Given the description of an element on the screen output the (x, y) to click on. 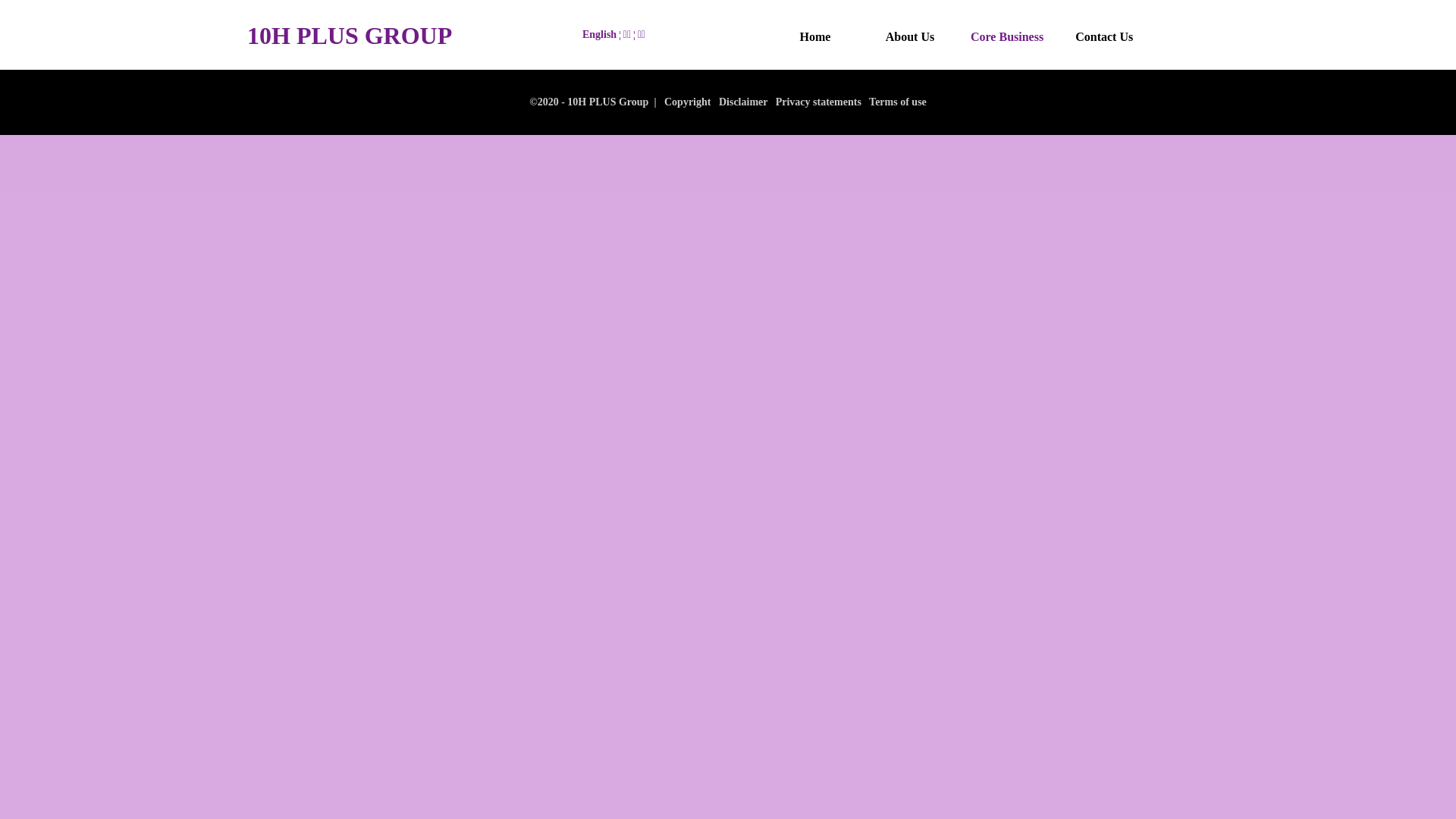
Contact Us Element type: text (1104, 36)
Home Element type: text (814, 36)
English Element type: text (599, 34)
Core Business Element type: text (1006, 36)
Home Element type: text (815, 36)
About Us Element type: text (909, 36)
